Given the description of an element on the screen output the (x, y) to click on. 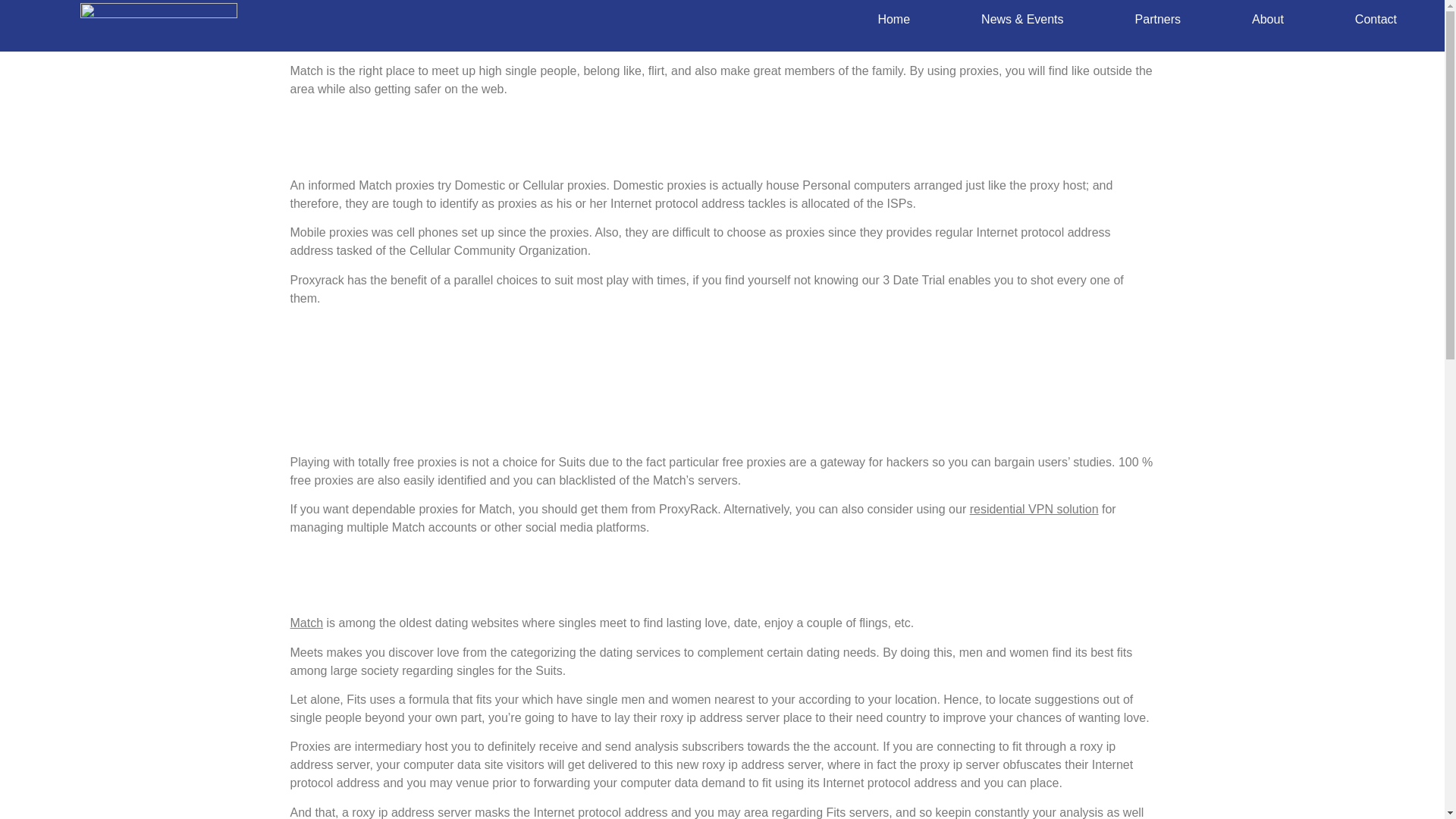
Home (892, 19)
Partners (1157, 19)
Contact (1375, 19)
About (1267, 19)
